Given the description of an element on the screen output the (x, y) to click on. 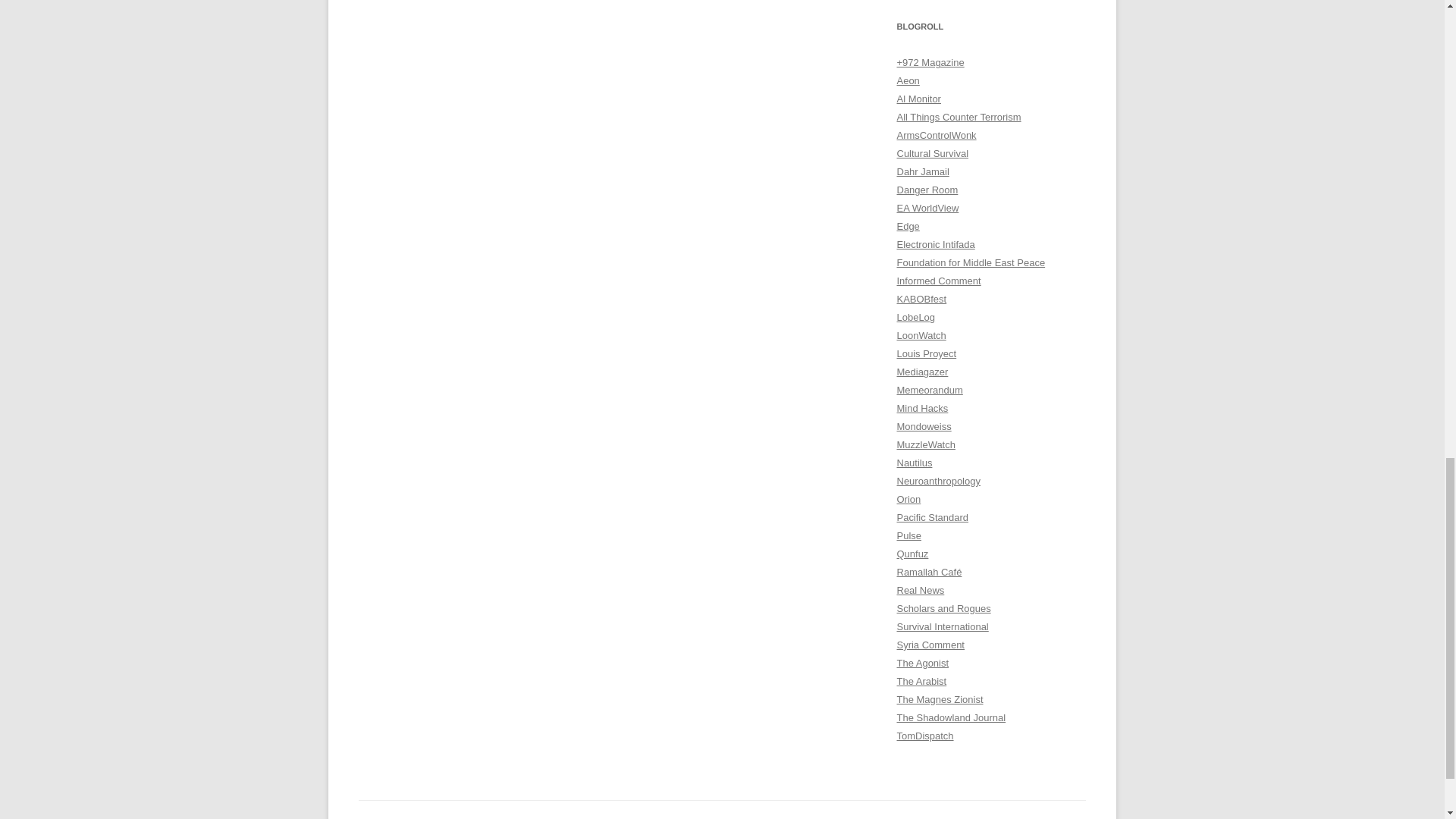
All Things Counter Terrorism (958, 116)
Al Monitor (918, 98)
ArmsControlWonk (935, 134)
Danger Room (927, 189)
Aeon (907, 80)
Cultural Survival (932, 153)
Electronic Intifada (935, 244)
Edge (907, 225)
EA WorldView (927, 207)
